Given the description of an element on the screen output the (x, y) to click on. 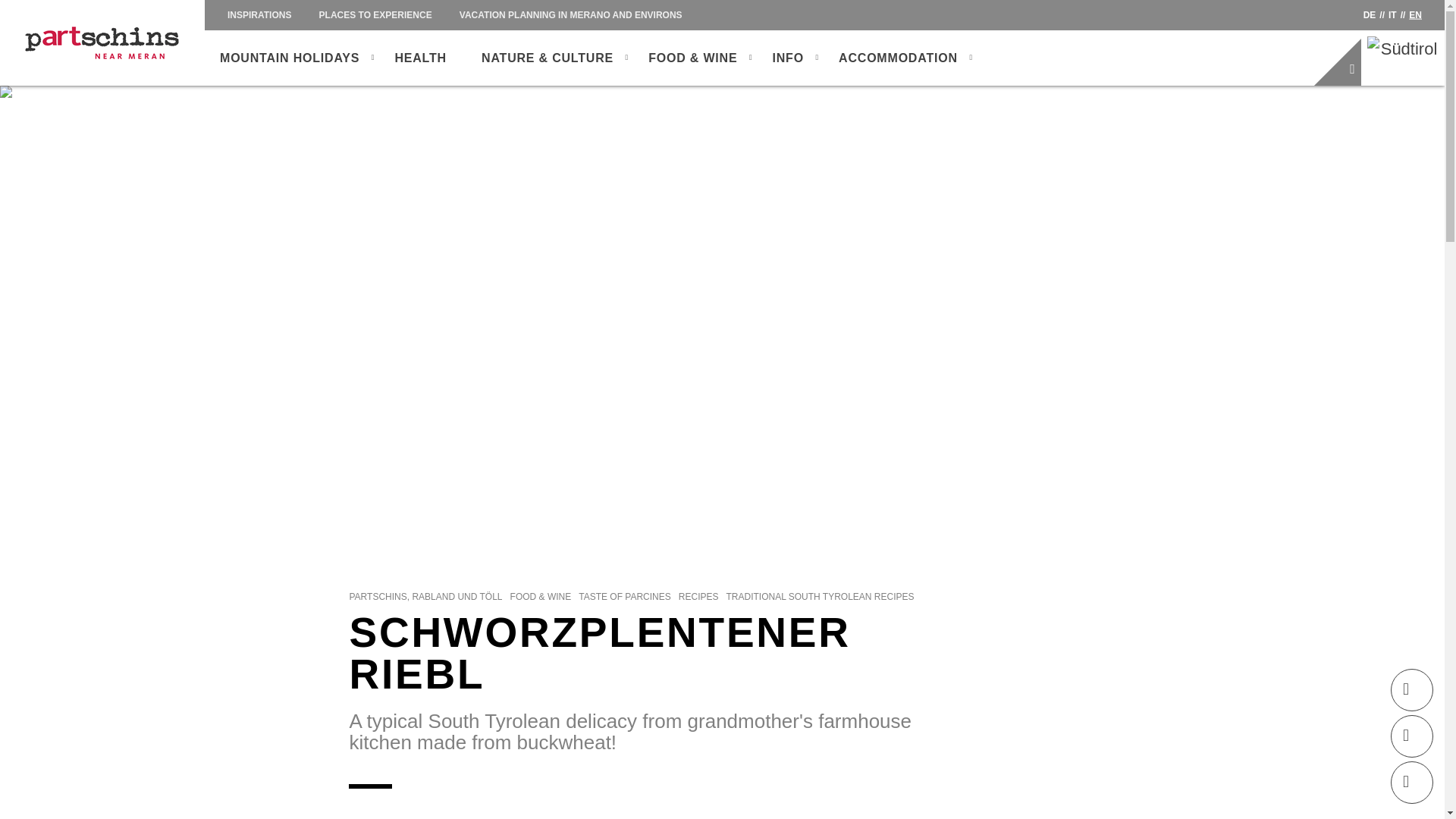
INSPIRATIONS (258, 15)
EN (1415, 14)
DE (1368, 14)
MOUNTAIN HOLIDAYS (289, 57)
VACATION PLANNING IN MERANO AND ENVIRONS (571, 15)
PLACES TO EXPERIENCE (375, 15)
